Given the description of an element on the screen output the (x, y) to click on. 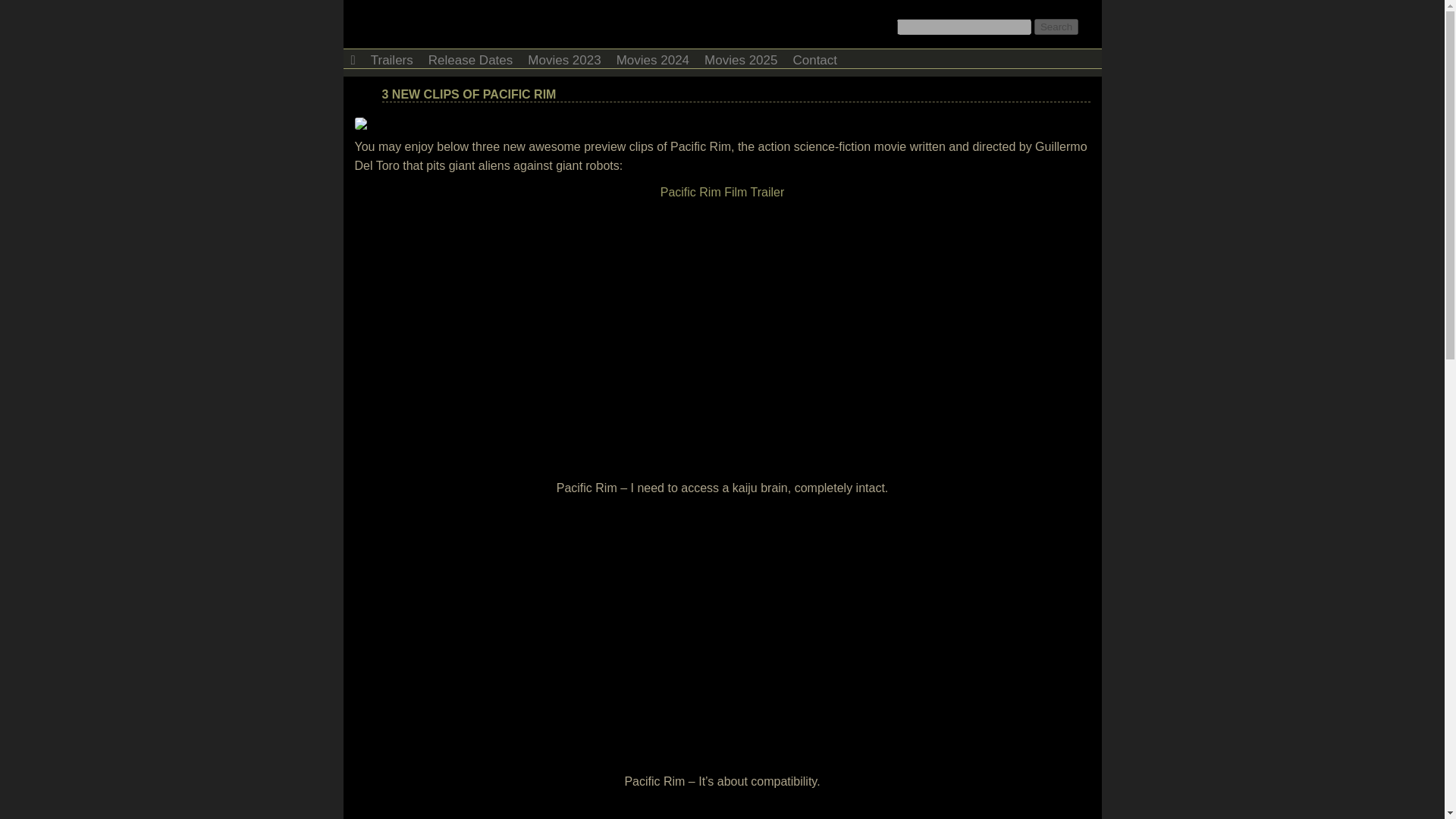
Movies 2025 (740, 58)
Movies 2023 (563, 58)
Home (352, 58)
Pacific Rim Film Trailer (722, 192)
Search (1055, 26)
Trailers (391, 58)
Contact (814, 58)
3 NEW CLIPS OF PACIFIC RIM (468, 93)
Search (1055, 26)
Movies 2024 (652, 58)
